Given the description of an element on the screen output the (x, y) to click on. 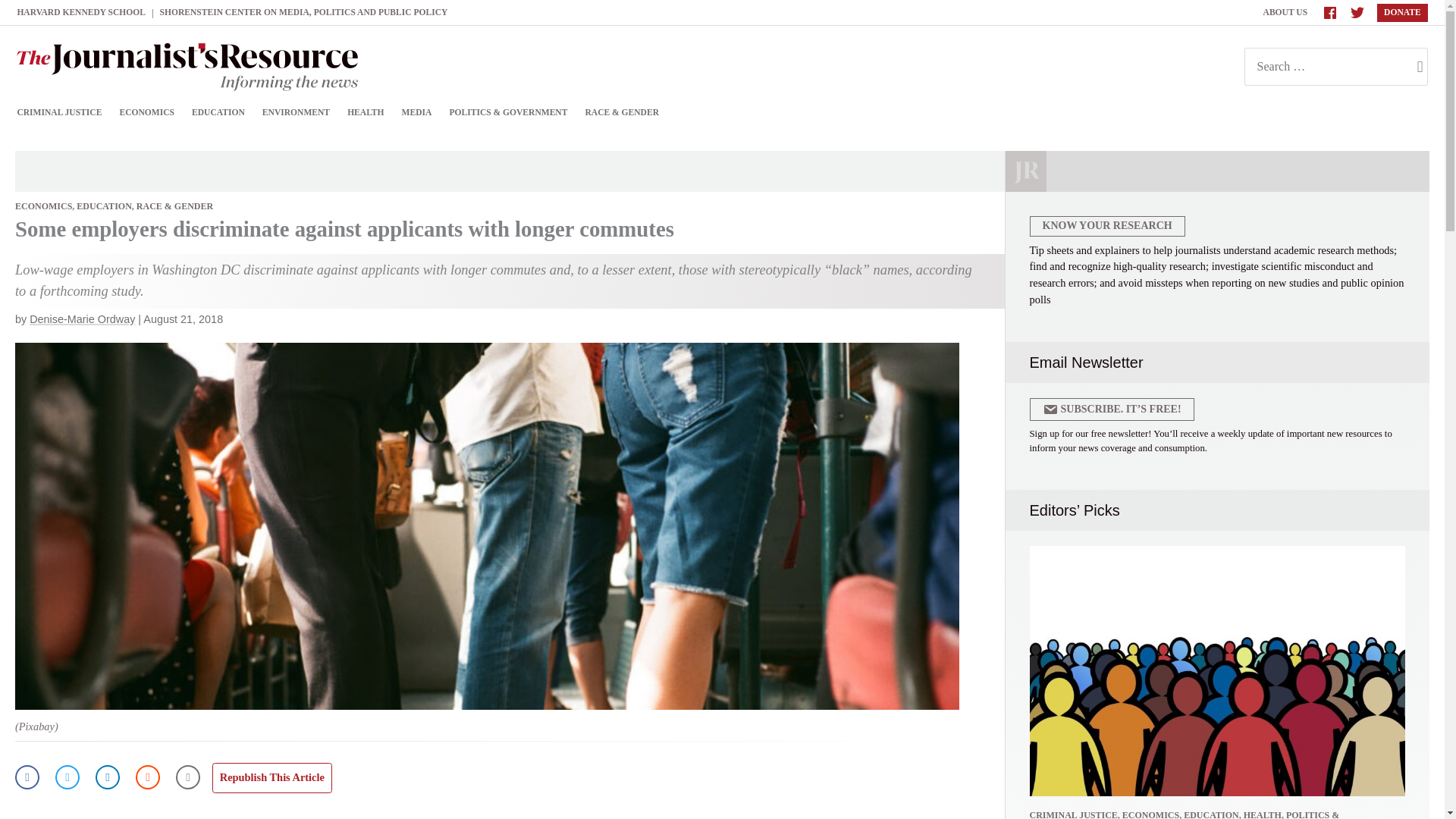
EDUCATION (104, 205)
ENVIRONMENT (295, 112)
ECONOMICS (146, 112)
Posts by Denise-Marie Ordway (82, 318)
MEDIA (417, 112)
ABOUT US (1285, 12)
HARVARD KENNEDY SCHOOL (80, 12)
HEALTH (366, 112)
Twitter (67, 776)
Reddit (147, 776)
Facebook (26, 776)
Denise-Marie Ordway (82, 318)
FOLLOW US ON TWITTER (1357, 12)
ECONOMICS (42, 205)
